Given the description of an element on the screen output the (x, y) to click on. 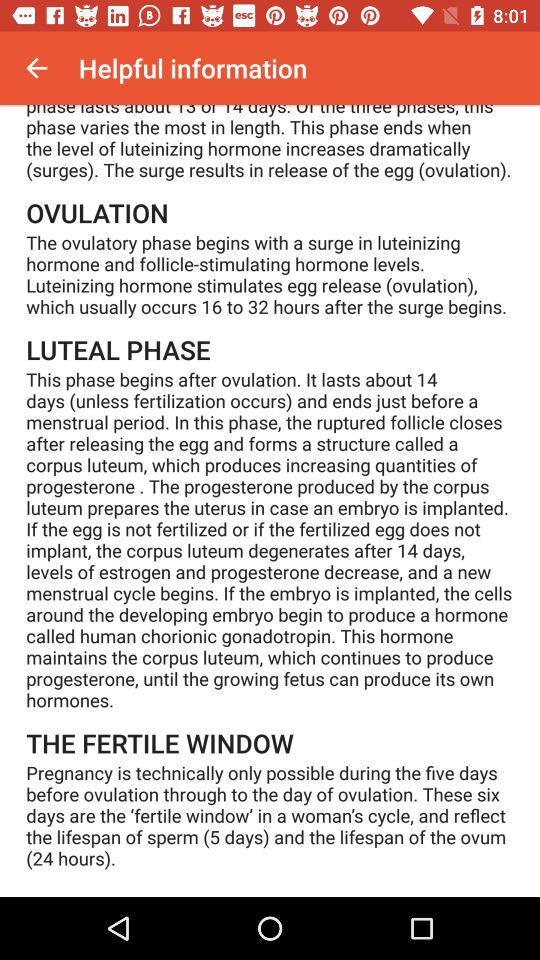
turn on the item above the menstrual cycle (36, 68)
